Given the description of an element on the screen output the (x, y) to click on. 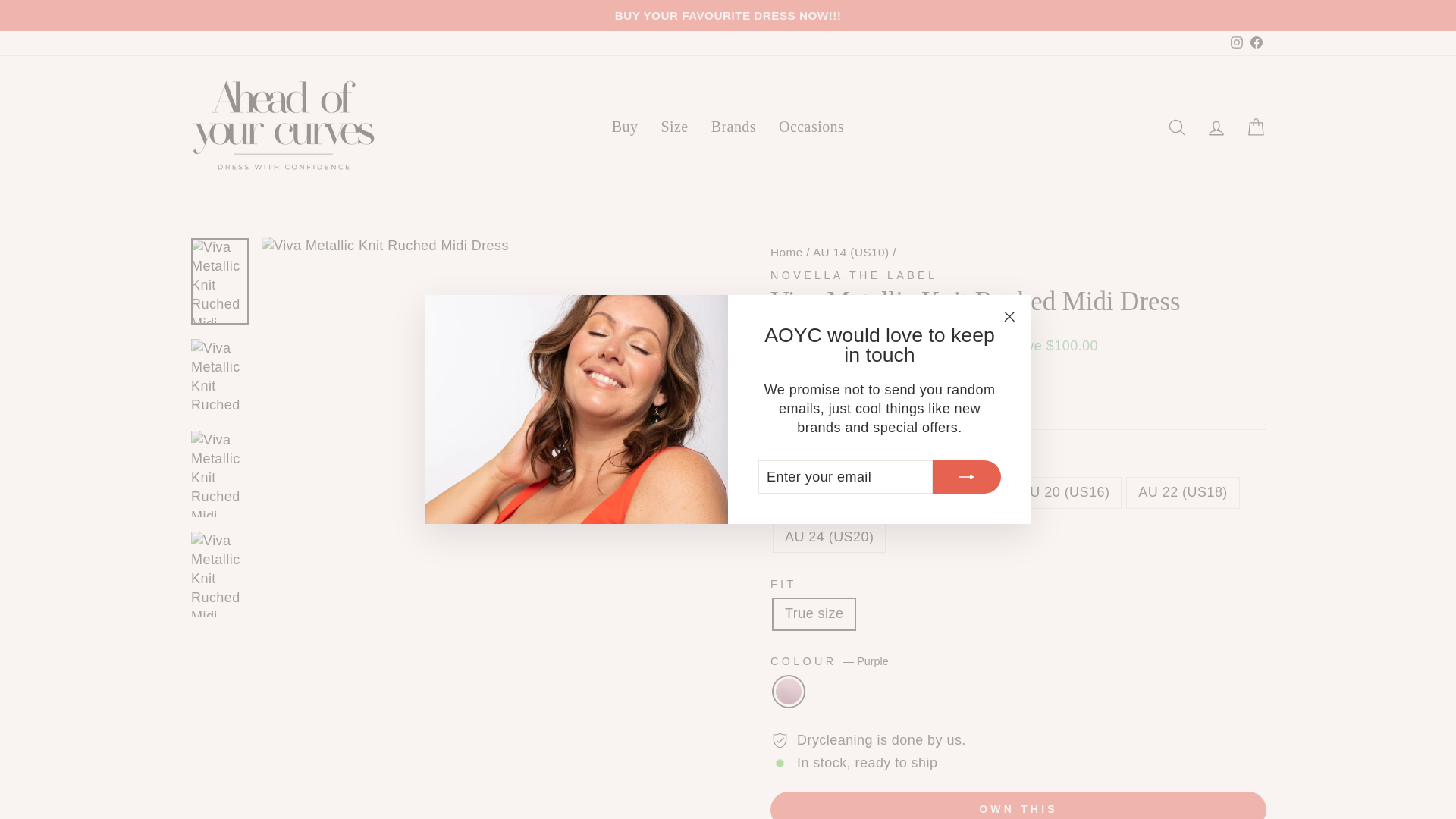
Ahead Of Your Curves  on Instagram (1236, 42)
Back to the frontpage (786, 251)
Ahead Of Your Curves  on Facebook (1256, 42)
